Given the description of an element on the screen output the (x, y) to click on. 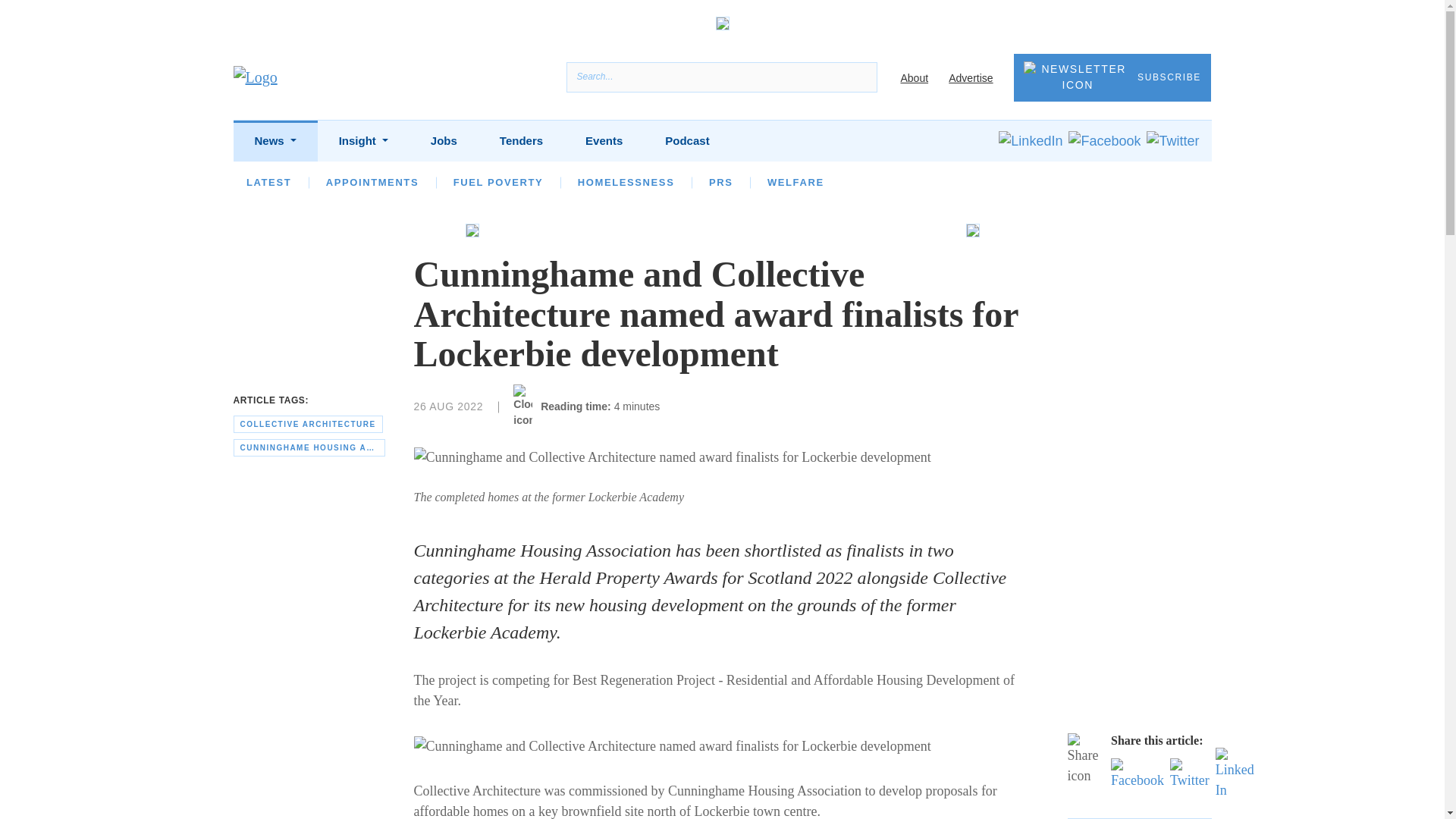
FUEL POVERTY (497, 182)
HOMELESSNESS (626, 182)
Jobs (444, 141)
APPOINTMENTS (372, 182)
News (274, 141)
OUR HOUSING HERITAGE (1035, 182)
LATEST (268, 182)
About (913, 78)
Events (603, 141)
Advertise (970, 78)
WELFARE (795, 182)
BLACK'S BLOG (883, 182)
Tenders (521, 141)
Podcast (686, 141)
HOUSING CHAMPIONS (582, 182)
